Given the description of an element on the screen output the (x, y) to click on. 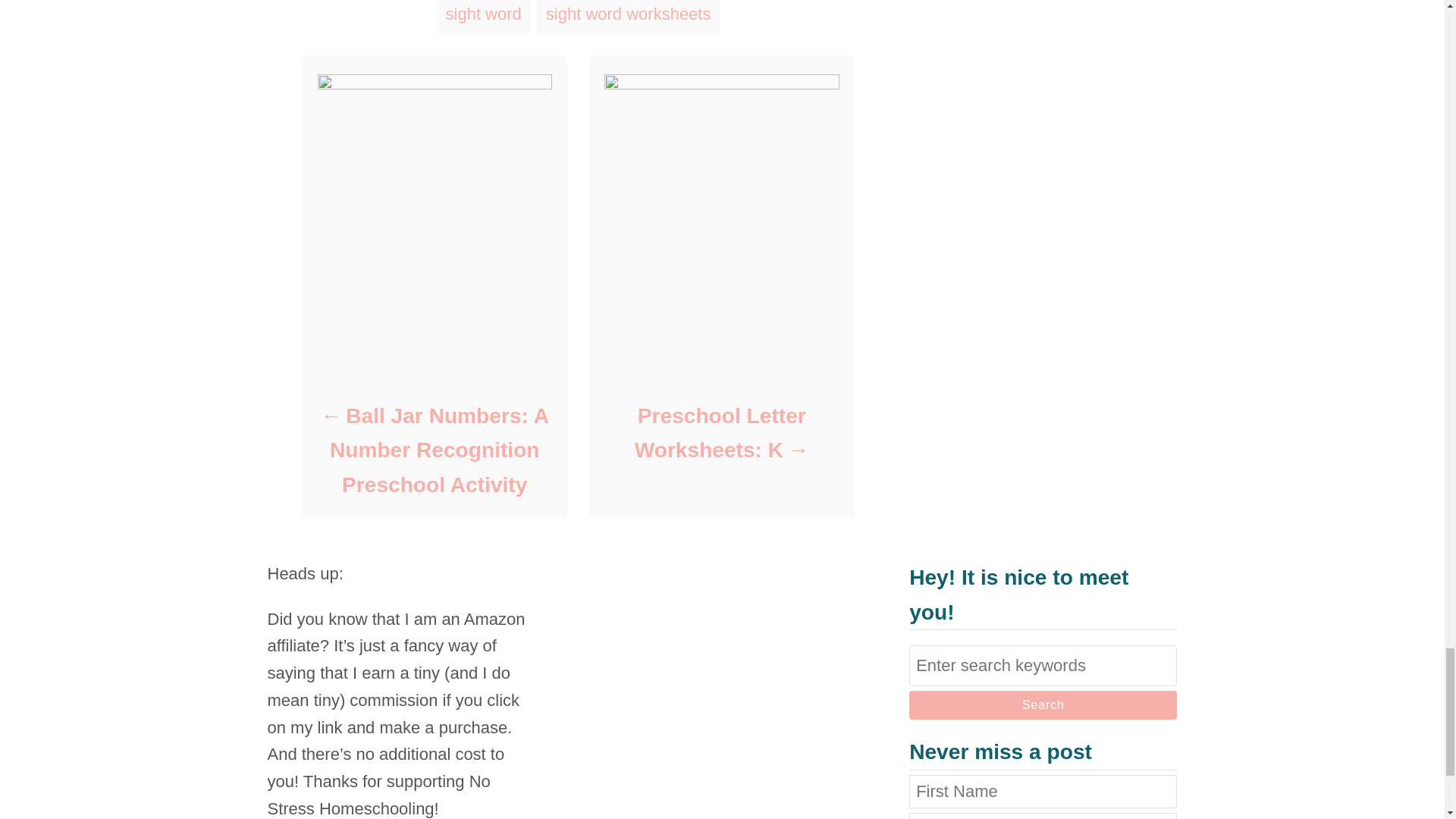
Search (1042, 705)
Search for: (1042, 665)
Search (1042, 705)
